Given the description of an element on the screen output the (x, y) to click on. 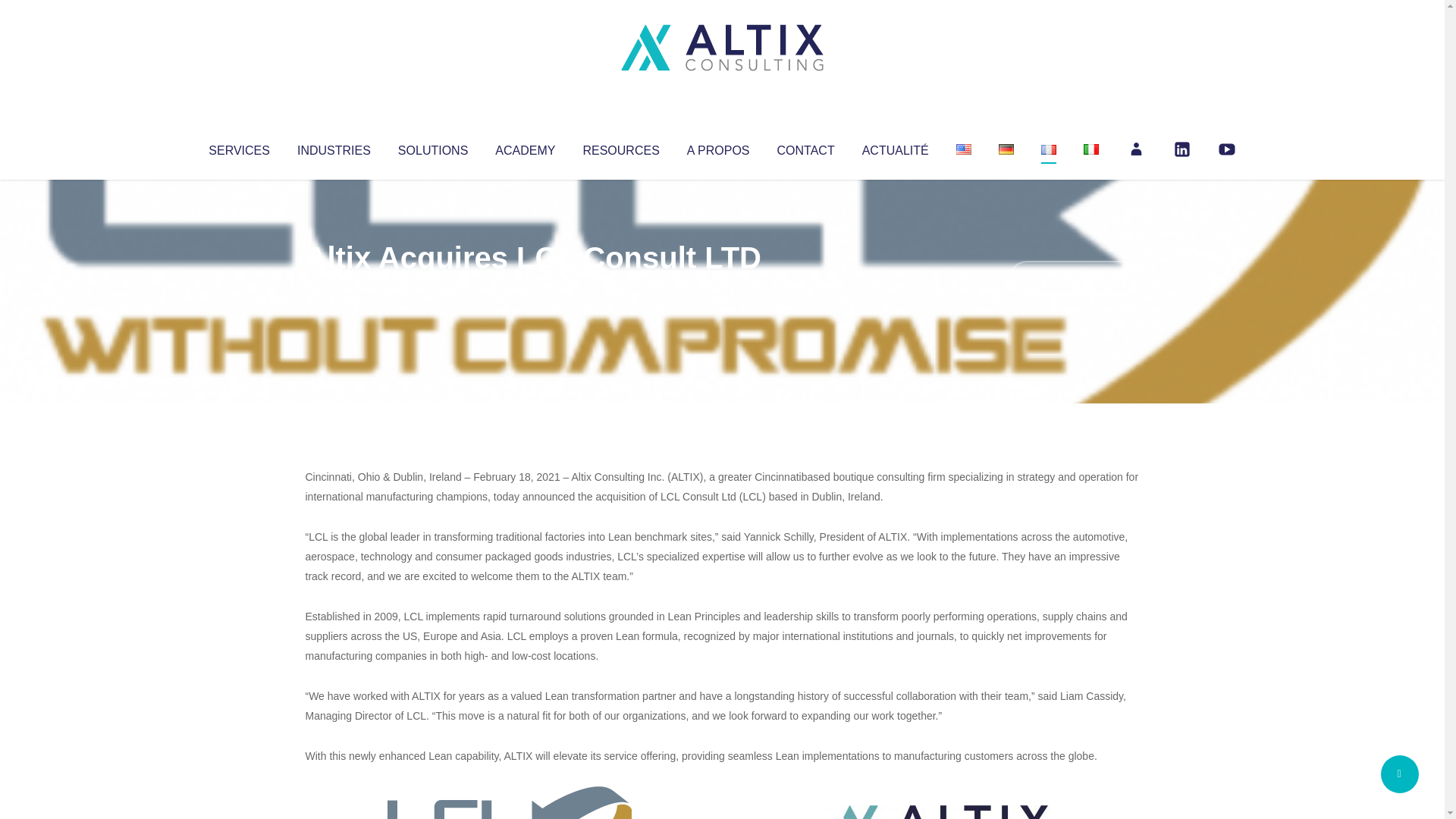
No Comments (1073, 278)
SERVICES (238, 146)
SOLUTIONS (432, 146)
INDUSTRIES (334, 146)
Articles par Altix (333, 287)
RESOURCES (620, 146)
A PROPOS (718, 146)
Altix (333, 287)
Uncategorized (530, 287)
ACADEMY (524, 146)
